Given the description of an element on the screen output the (x, y) to click on. 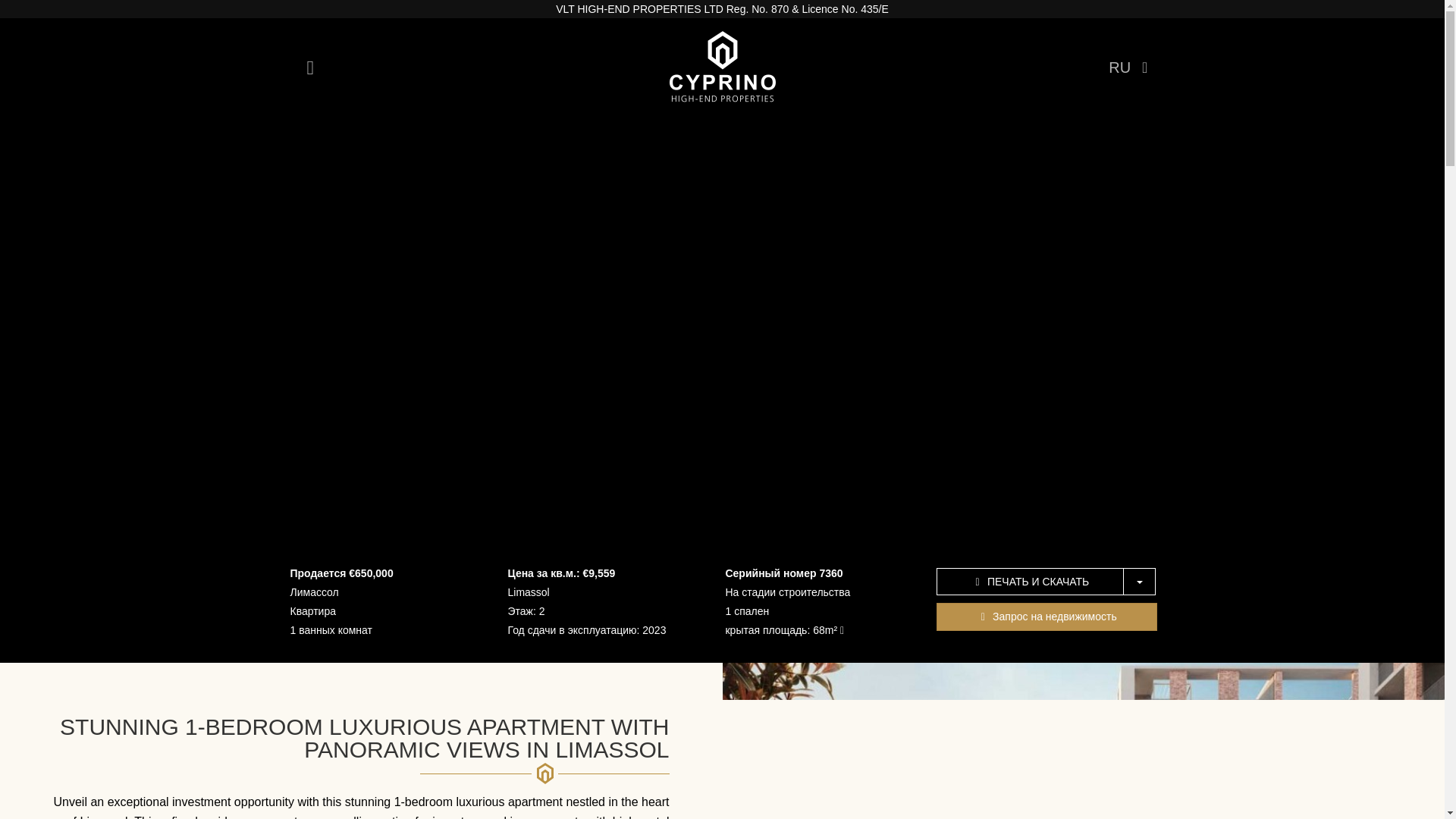
RU (1131, 67)
